Given the description of an element on the screen output the (x, y) to click on. 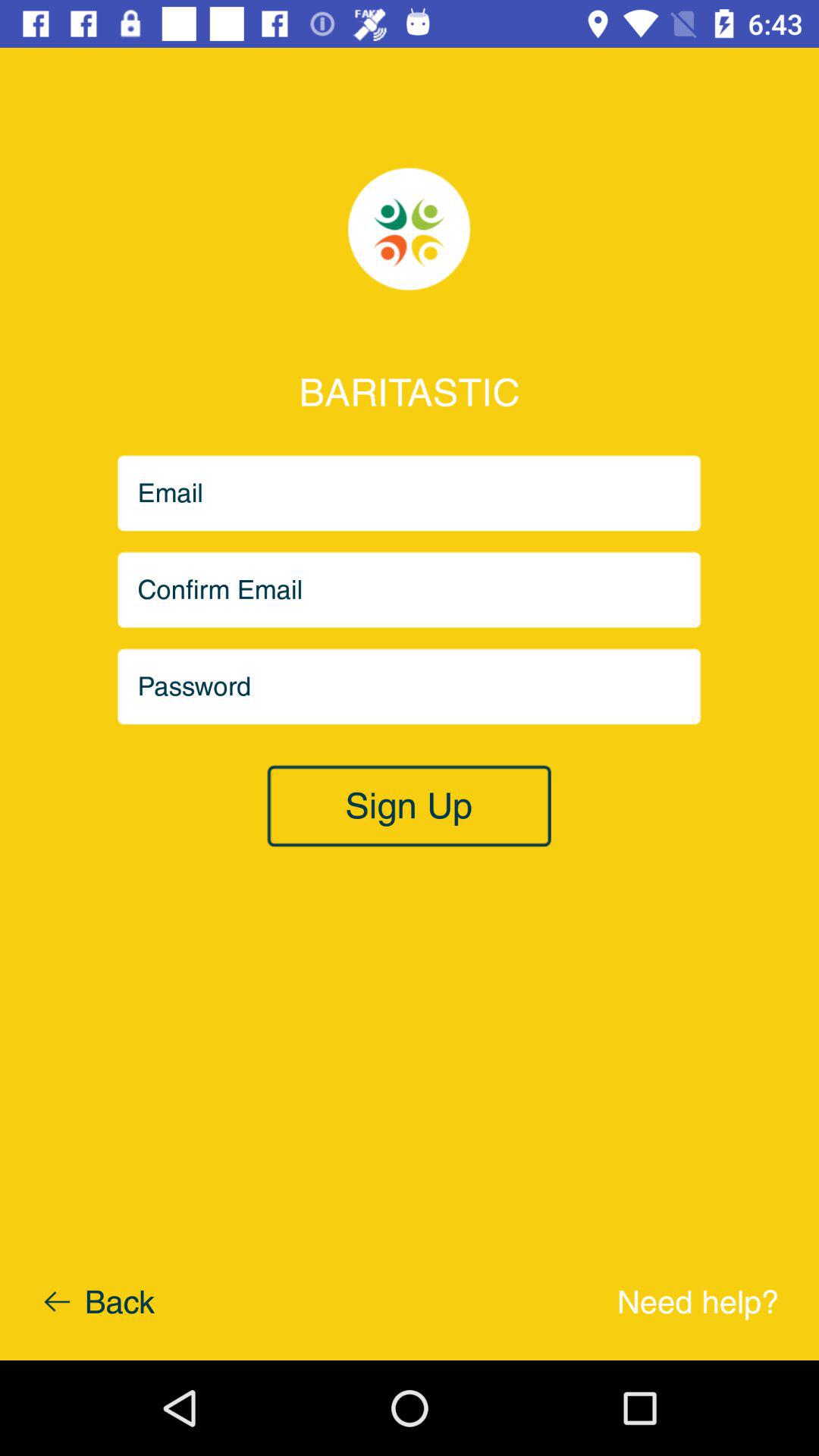
password input box (409, 686)
